Given the description of an element on the screen output the (x, y) to click on. 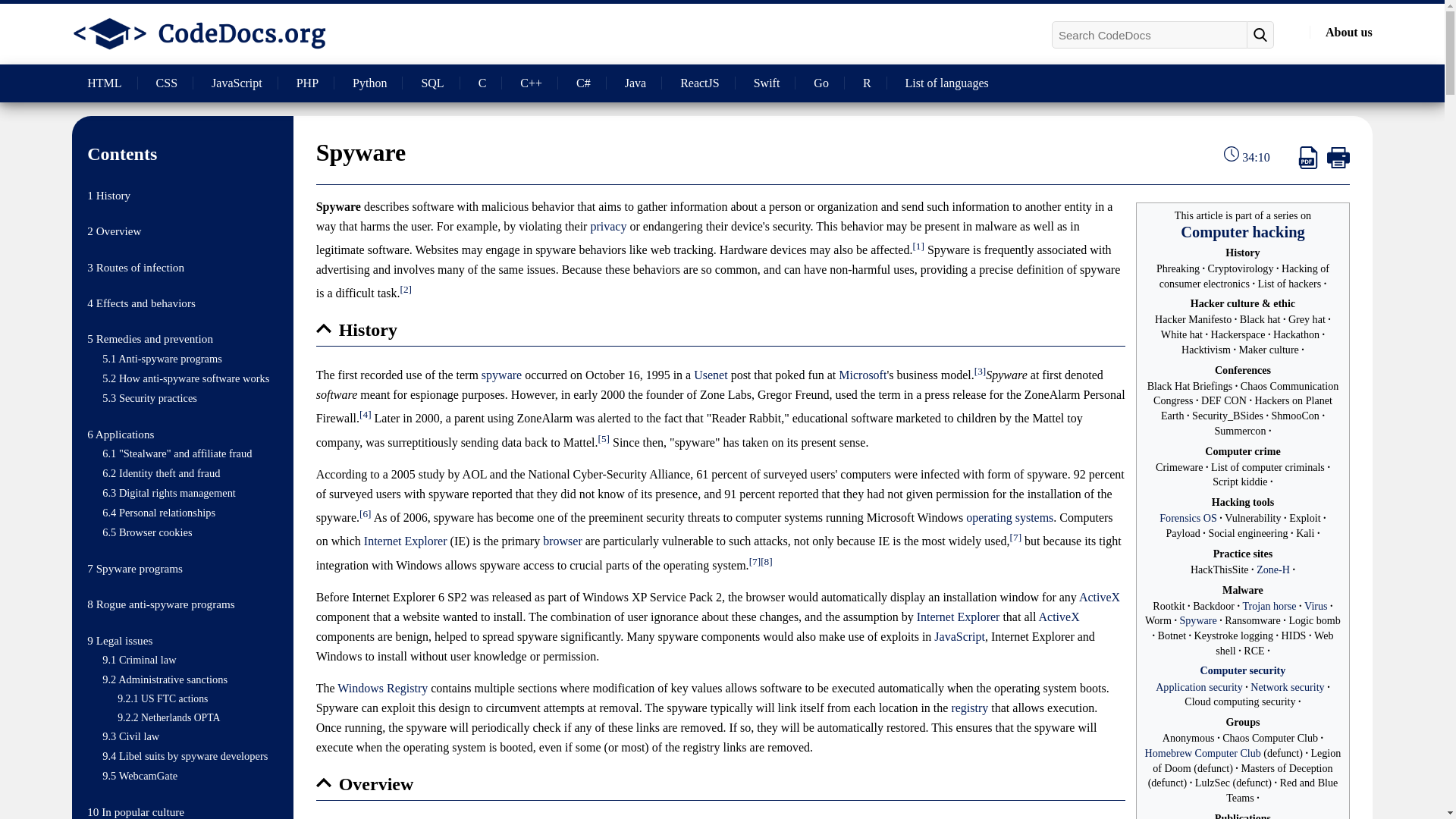
SQL (433, 82)
Homebrew Computer Club (1202, 752)
HTML (103, 82)
Network security (1286, 686)
JavaScript (237, 82)
1 History (109, 195)
R (866, 82)
6.4 Personal relationships (158, 512)
Java (636, 82)
6.2 Identity theft and fraud (160, 472)
8 Rogue anti-spyware programs (160, 603)
List of languages (946, 82)
6.1 "Stealware" and affiliate fraud (176, 453)
Go (820, 82)
Security hacker (1242, 231)
